Given the description of an element on the screen output the (x, y) to click on. 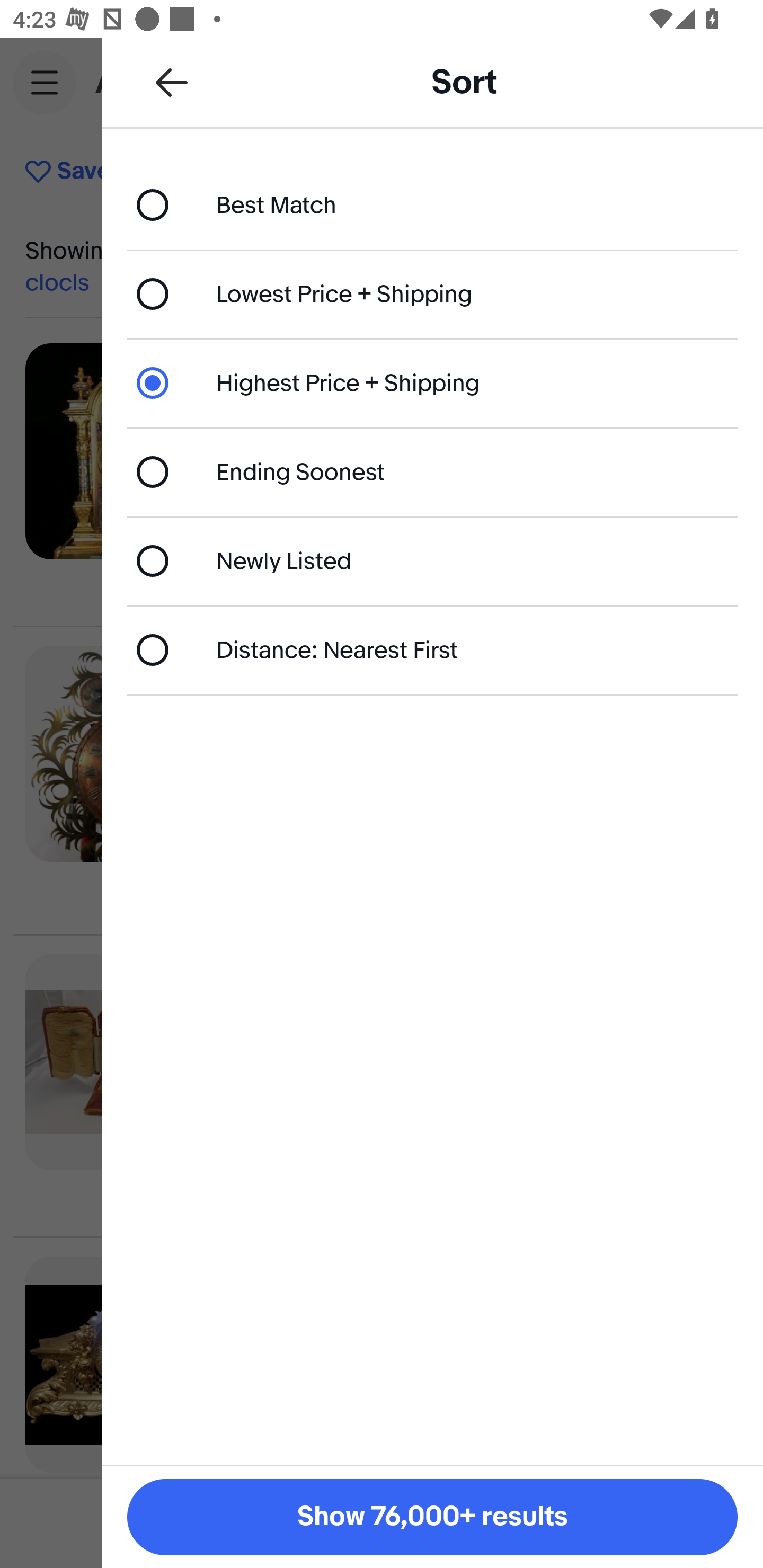
Back to all refinements (171, 81)
Best Match (432, 204)
Lowest Price + Shipping (432, 293)
Ending Soonest (432, 471)
Newly Listed (432, 560)
Distance: Nearest First (432, 649)
Show 76,000+ results (432, 1516)
